Given the description of an element on the screen output the (x, y) to click on. 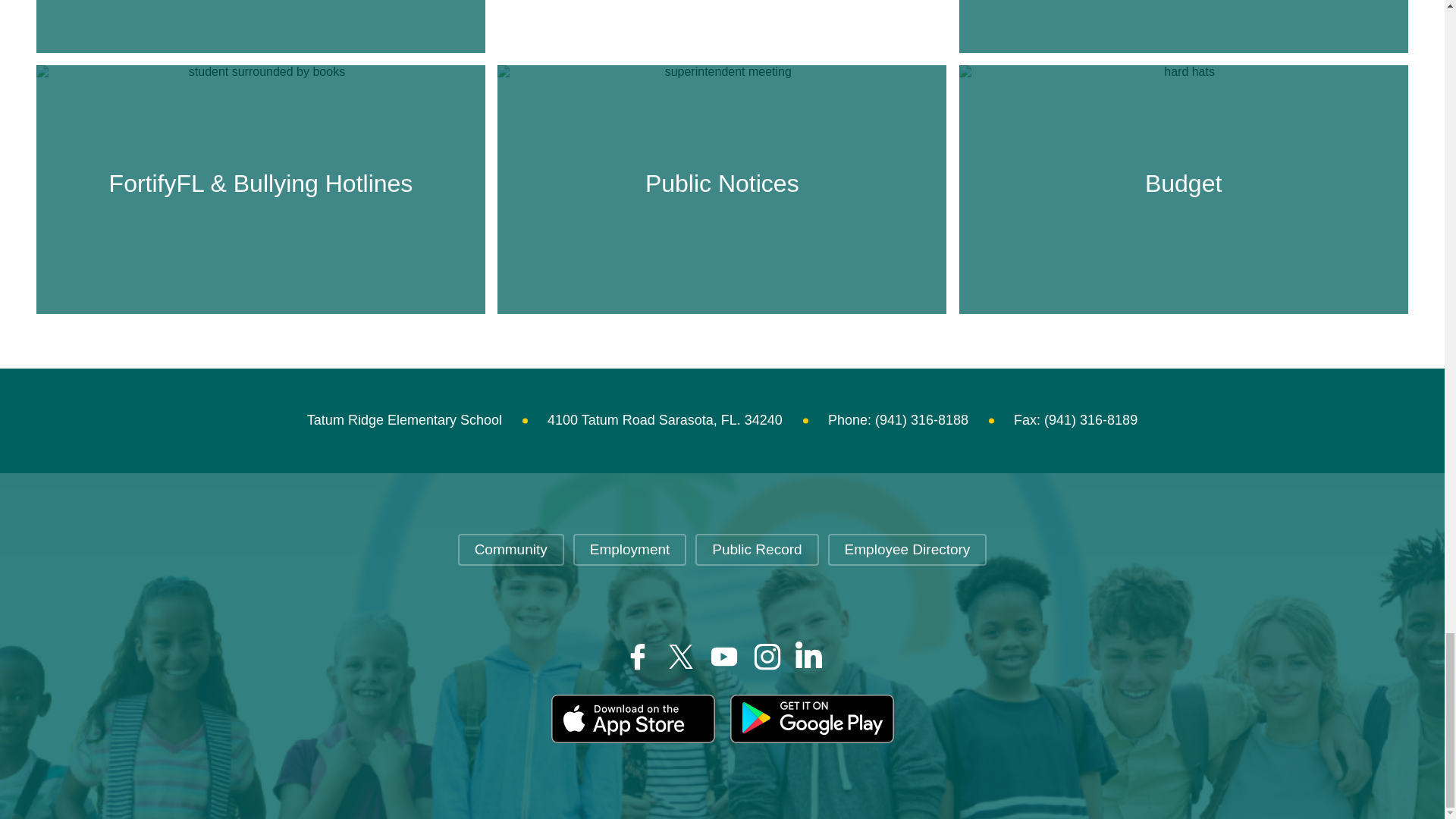
Connect (1183, 5)
Budget (1183, 183)
Early Learning Pre-Kindergarten (260, 5)
Public Notices (721, 183)
Community (511, 549)
